Given the description of an element on the screen output the (x, y) to click on. 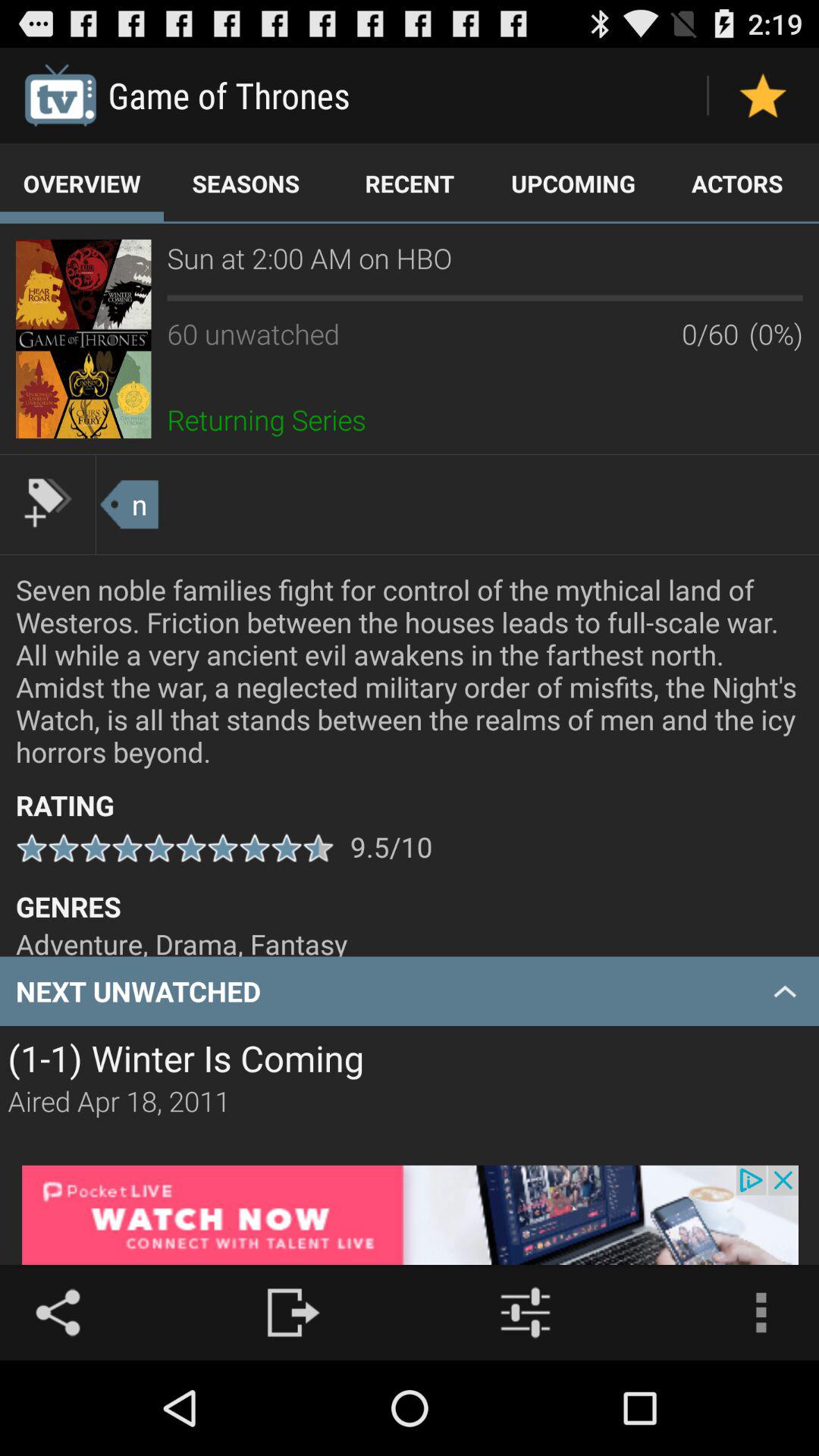
favorite item (763, 95)
